Given the description of an element on the screen output the (x, y) to click on. 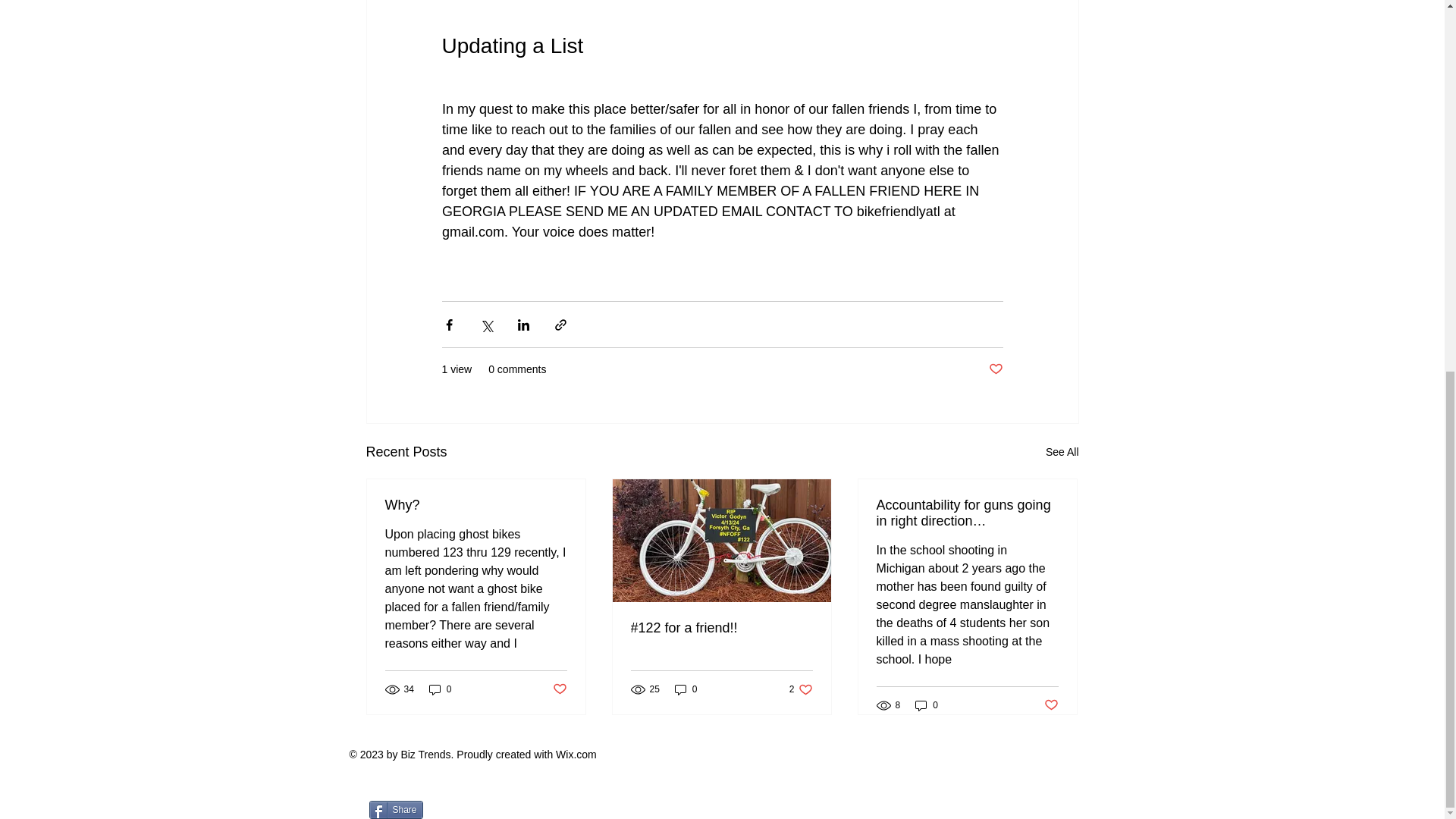
Post not marked as liked (995, 369)
See All (800, 688)
0 (1061, 452)
Post not marked as liked (926, 705)
0 (558, 689)
Post not marked as liked (440, 688)
0 (1050, 704)
Why? (685, 688)
David Mathews (476, 505)
